Given the description of an element on the screen output the (x, y) to click on. 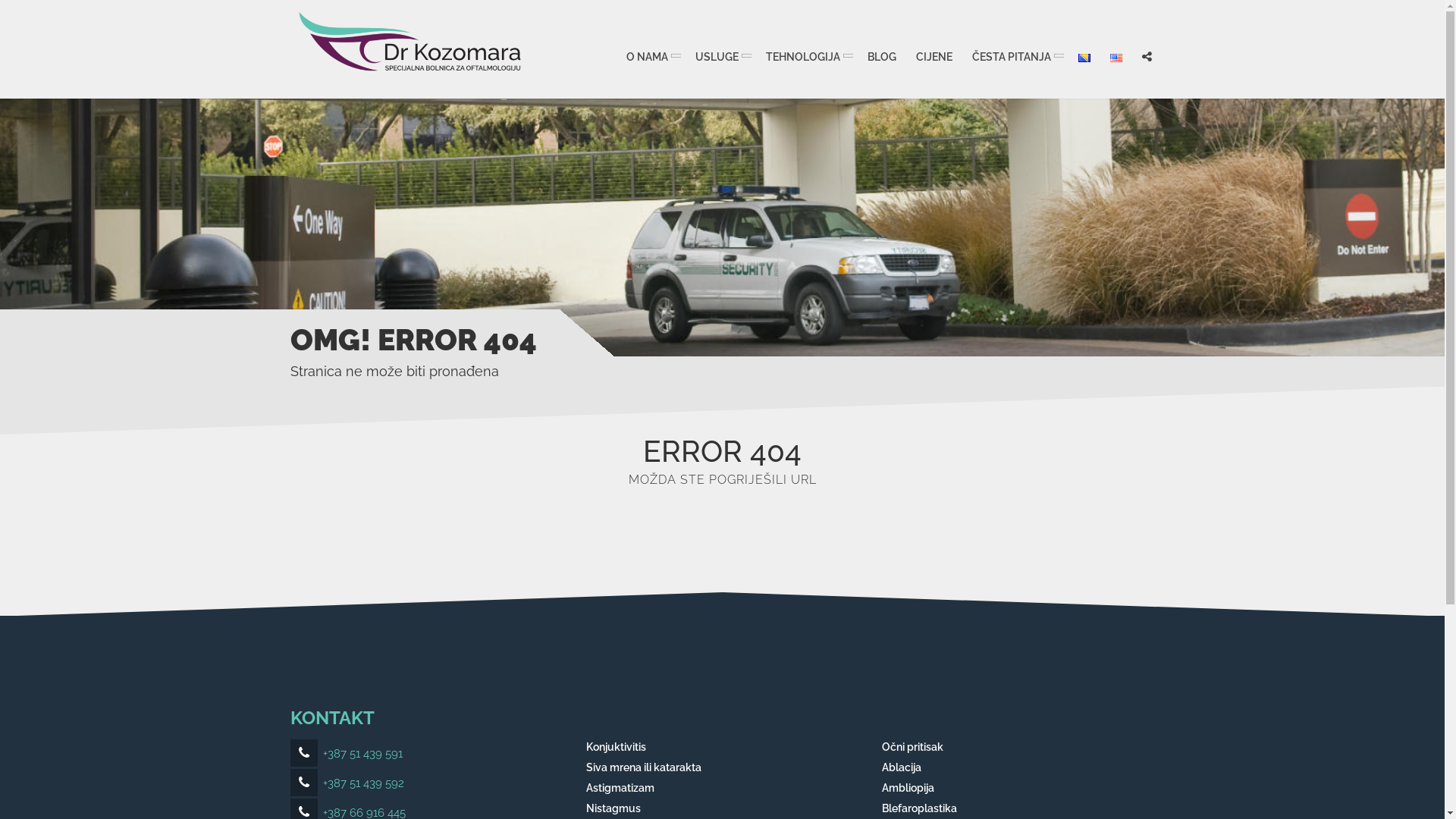
Ambliopija Element type: text (907, 788)
Ablacija Element type: text (900, 767)
O NAMA Element type: text (649, 56)
Astigmatizam Element type: text (619, 788)
USLUGE Element type: text (720, 56)
Konjuktivitis Element type: text (615, 747)
Siva mrena ili katarakta Element type: text (642, 767)
BLOG Element type: text (880, 56)
KONTAKT Element type: text (331, 717)
CIJENE Element type: text (933, 56)
TEHNOLOGIJA Element type: text (805, 56)
+387 51 439 591 Element type: text (345, 753)
+387 51 439 592 Element type: text (346, 783)
